Given the description of an element on the screen output the (x, y) to click on. 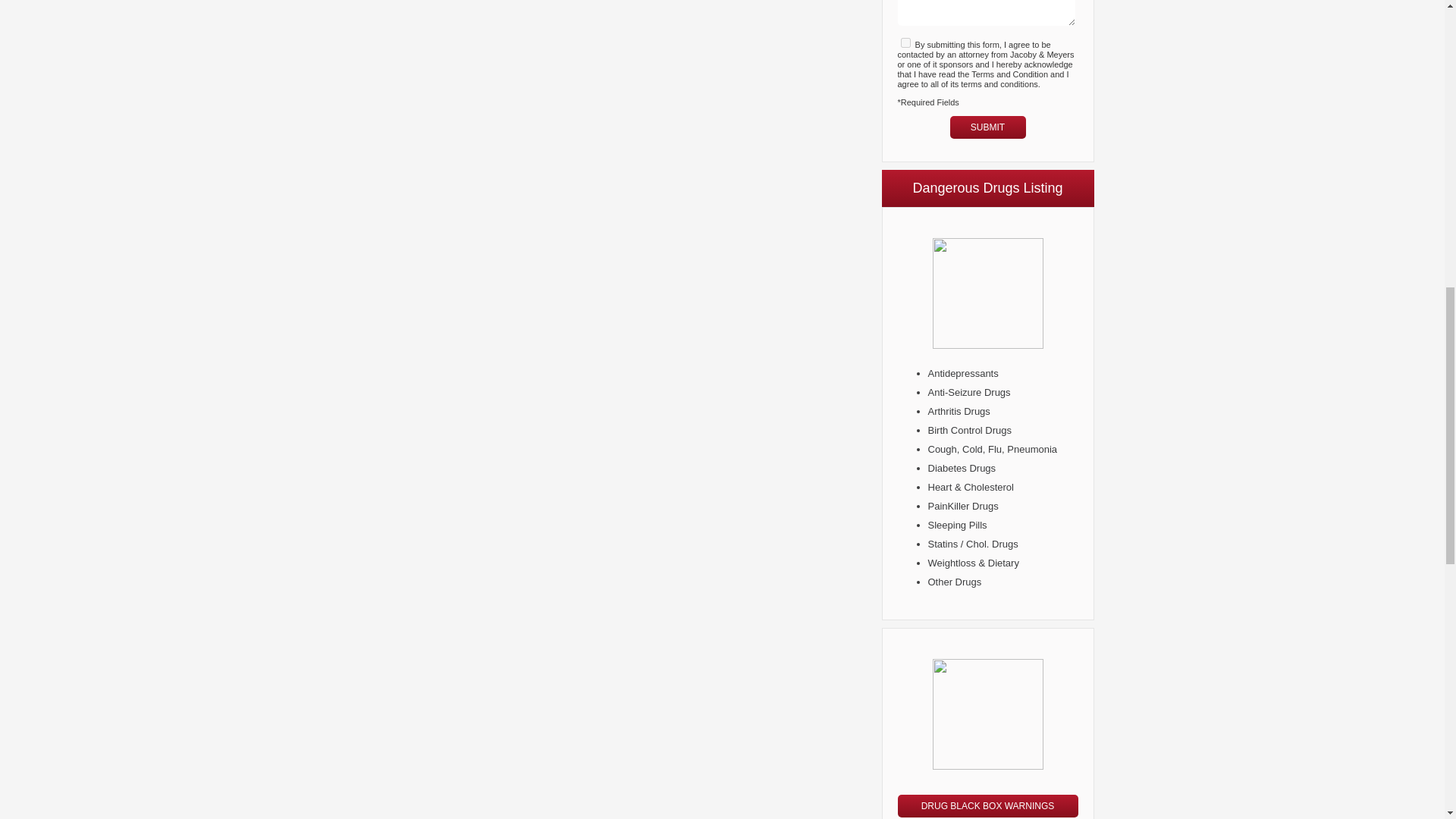
Anti-Seizure Drugs (969, 392)
Yes (906, 42)
Submit (987, 127)
Submit (987, 127)
Arthritis Drugs (959, 410)
Antidepressants (963, 373)
